Given the description of an element on the screen output the (x, y) to click on. 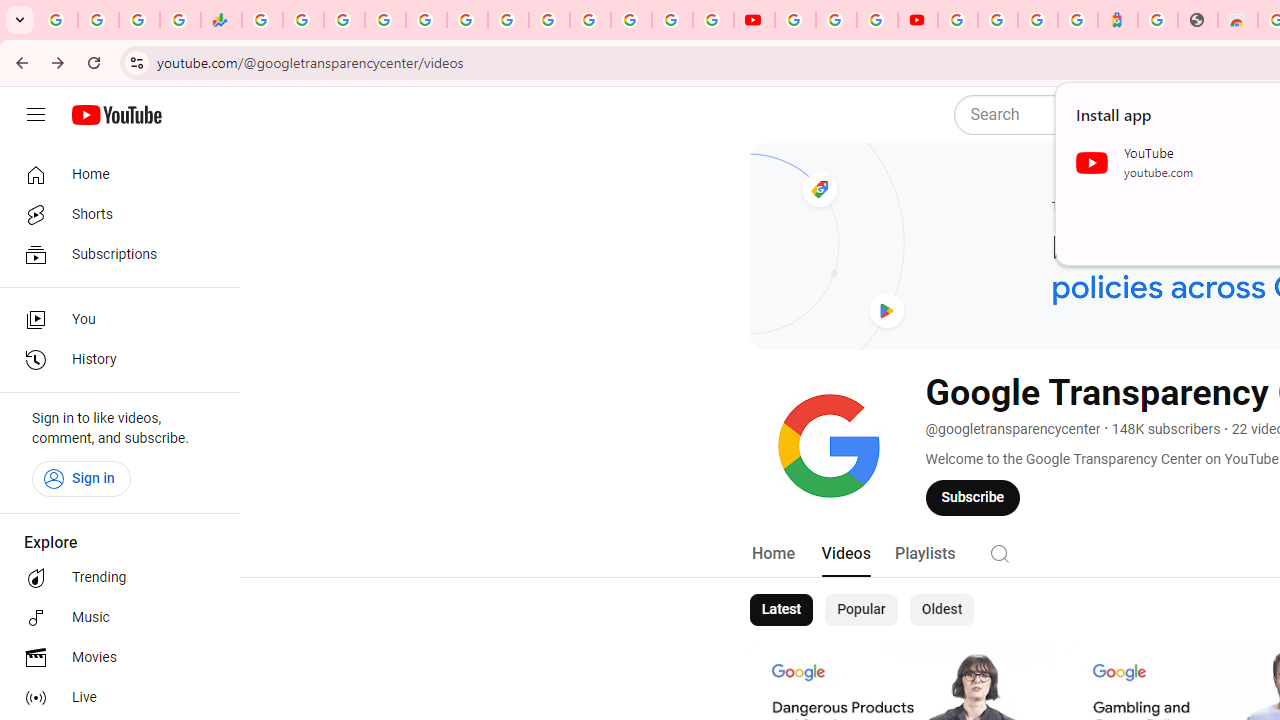
Create your Google Account (877, 20)
Sign in - Google Accounts (997, 20)
Atour Hotel - Google hotels (1117, 20)
Google Workspace Admin Community (57, 20)
Sign in - Google Accounts (957, 20)
YouTube (548, 20)
Subscriptions (113, 254)
